Given the description of an element on the screen output the (x, y) to click on. 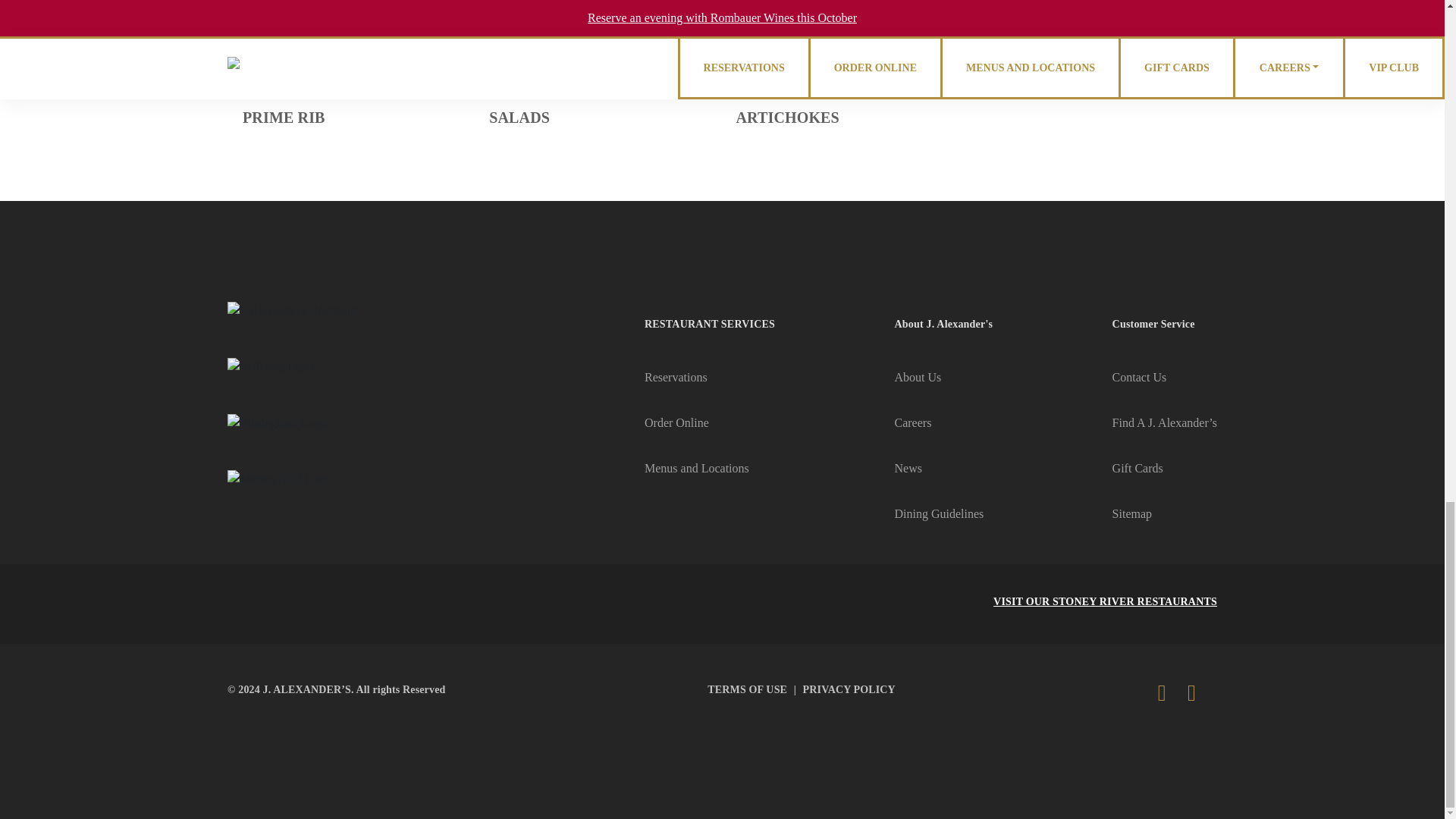
ARTICHOKES (786, 117)
CHICKEN SALAD (799, 79)
About Us (918, 377)
SHRIMP (519, 79)
DEVILED EGGS (1040, 41)
PRIME RIB (283, 117)
CHICKEN SANDWICH (816, 41)
FILET MIGNON (300, 41)
Dining Guidelines (939, 513)
Reservations (676, 377)
